Given the description of an element on the screen output the (x, y) to click on. 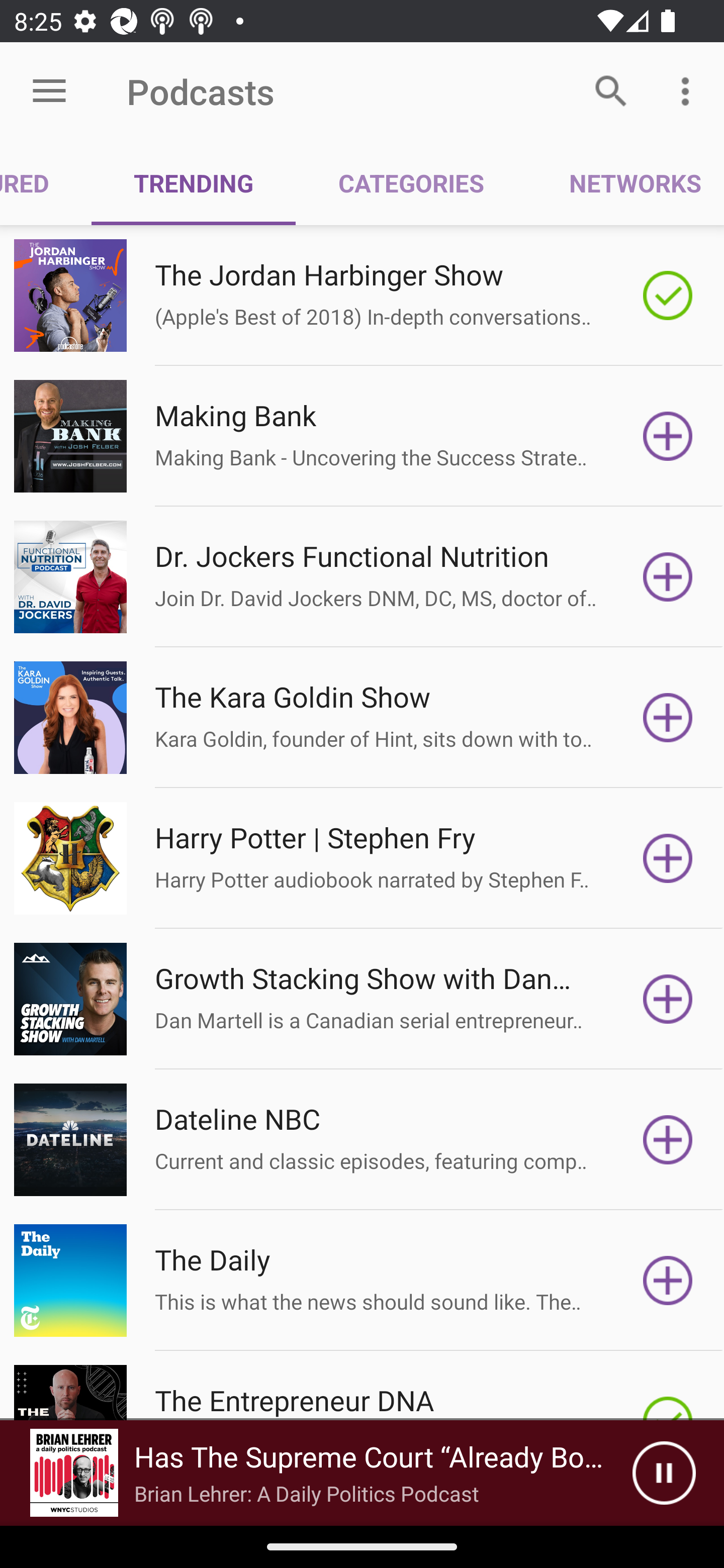
Open menu (49, 91)
Search (611, 90)
More options (688, 90)
TRENDING (193, 183)
CATEGORIES (410, 183)
NETWORKS (625, 183)
Subscribed (667, 295)
Subscribe (667, 435)
Subscribe (667, 576)
Subscribe (667, 717)
Subscribe (667, 858)
Subscribe (667, 998)
Subscribe (667, 1139)
Subscribe (667, 1280)
Pause (663, 1472)
